Given the description of an element on the screen output the (x, y) to click on. 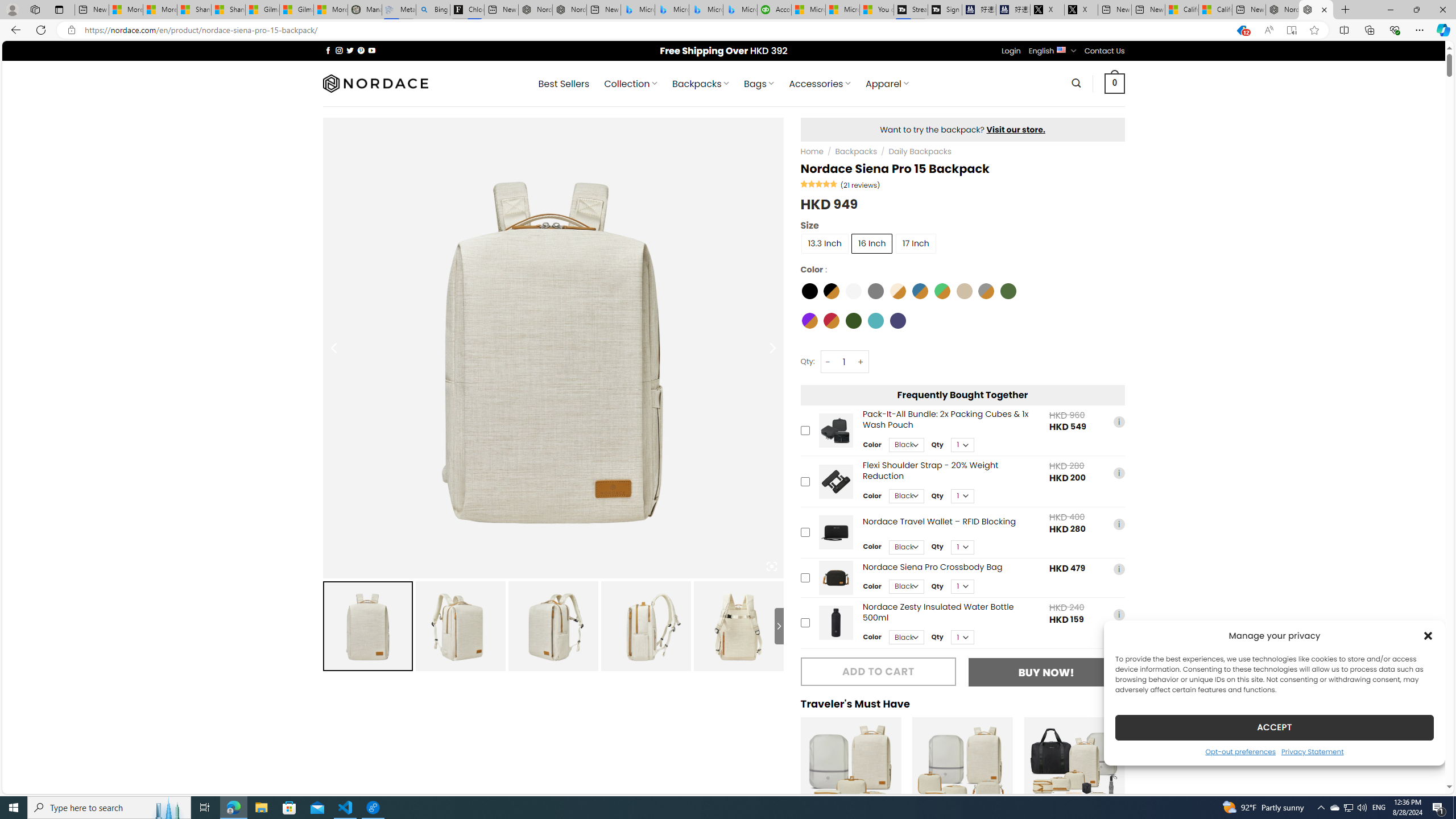
Visit our store. (1015, 129)
This site has coupons! Shopping in Microsoft Edge, 12 (1241, 29)
Chloe Sorvino (467, 9)
Microsoft Start (842, 9)
Follow on Facebook (327, 49)
Close (1442, 9)
Nordace Siena Pro 15 Backpack quantity (843, 361)
Nordace Siena Pro Crossbody Bag (835, 577)
  0   (1115, 83)
Rated 4.70 out of 5 (819, 183)
